Given the description of an element on the screen output the (x, y) to click on. 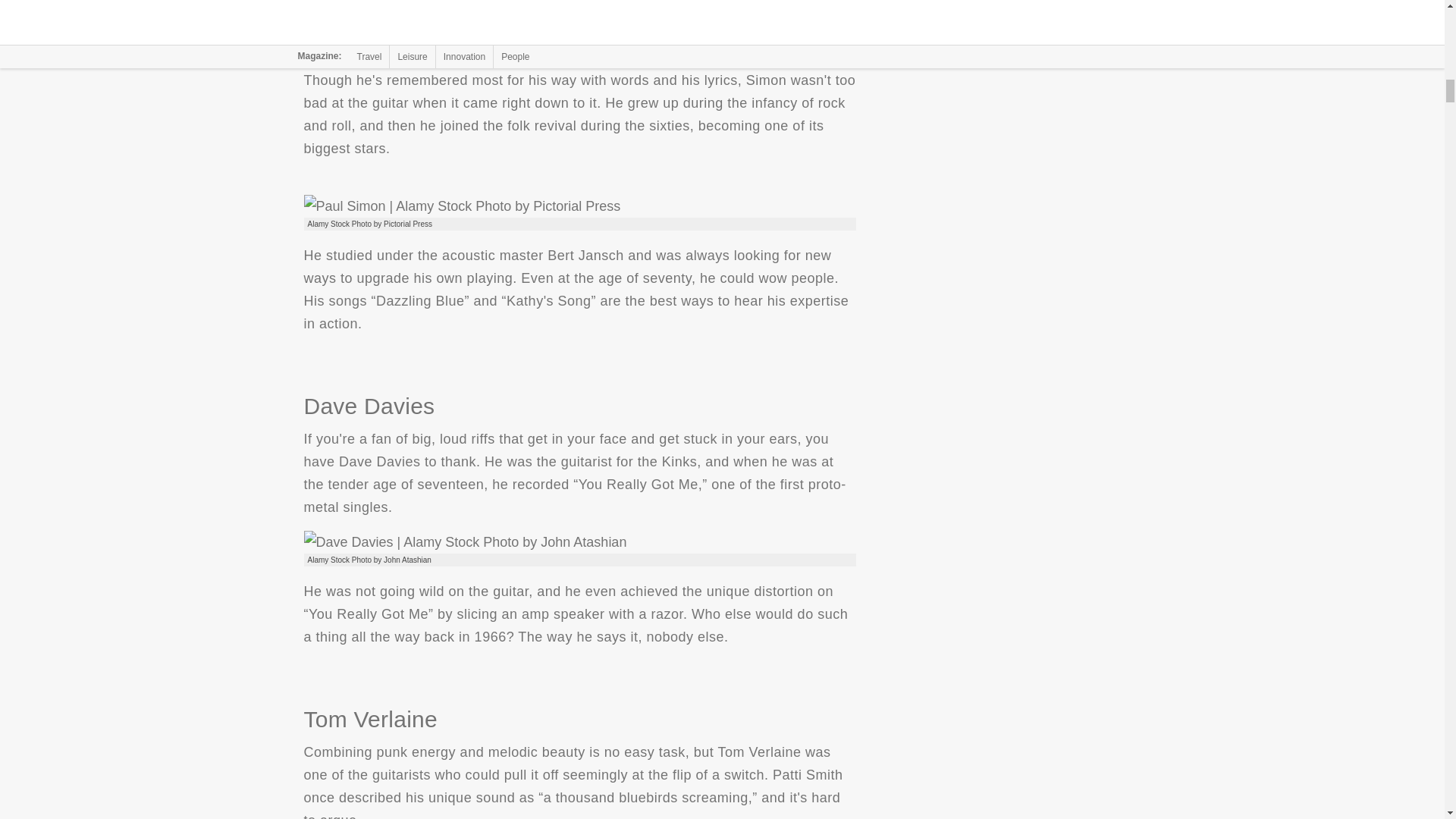
Paul Simon (461, 205)
Dave Davies (464, 541)
